Given the description of an element on the screen output the (x, y) to click on. 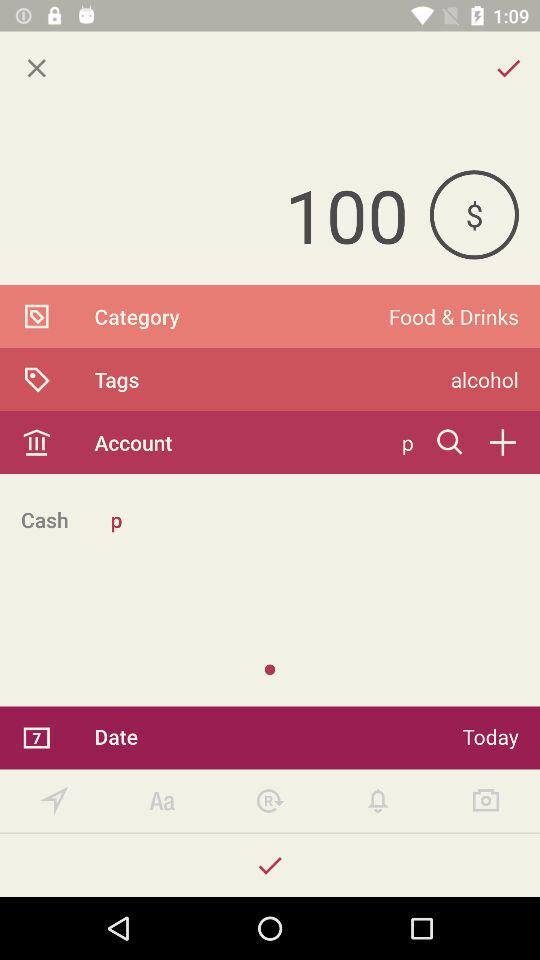
choose icon to the right of the 100 (474, 214)
